Given the description of an element on the screen output the (x, y) to click on. 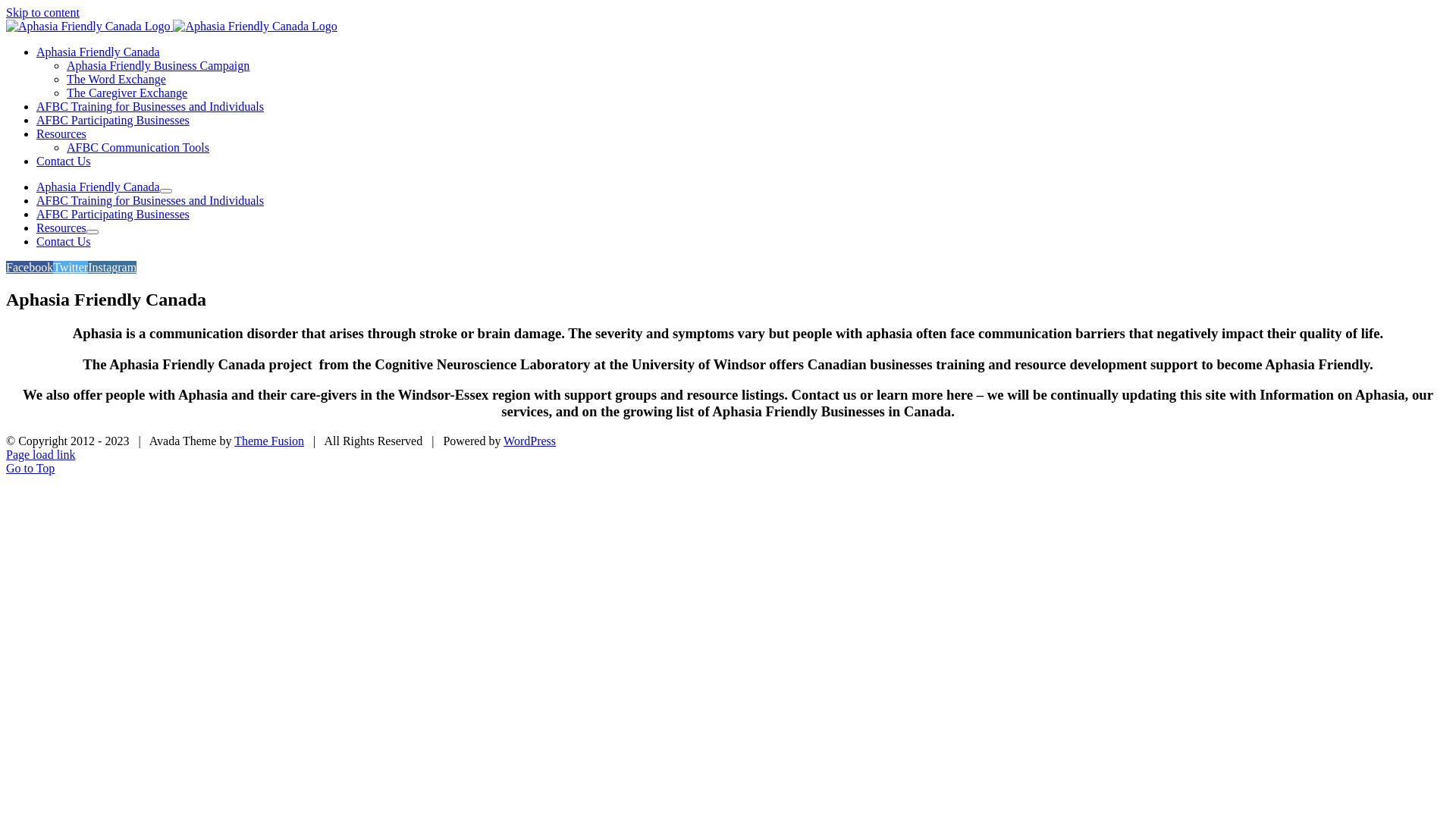
Aphasia Friendly Canada Element type: text (98, 186)
Page load link Element type: text (40, 454)
Theme Fusion Element type: text (269, 440)
Twitter Element type: text (70, 266)
Contact Us Element type: text (63, 160)
AFBC Training for Businesses and Individuals Element type: text (149, 200)
Instagram Element type: text (111, 266)
WordPress Element type: text (529, 440)
AFBC Communication Tools Element type: text (137, 147)
Resources Element type: text (61, 227)
Skip to content Element type: text (42, 12)
Resources Element type: text (61, 133)
AFBC Training for Businesses and Individuals Element type: text (149, 106)
Contact Us Element type: text (63, 241)
Aphasia Friendly Canada Element type: text (98, 51)
The Word Exchange Element type: text (116, 78)
AFBC Participating Businesses Element type: text (112, 213)
Aphasia Friendly Business Campaign Element type: text (157, 65)
The Caregiver Exchange Element type: text (126, 92)
Go to Top Element type: text (30, 467)
Facebook Element type: text (29, 266)
AFBC Participating Businesses Element type: text (112, 119)
